Given the description of an element on the screen output the (x, y) to click on. 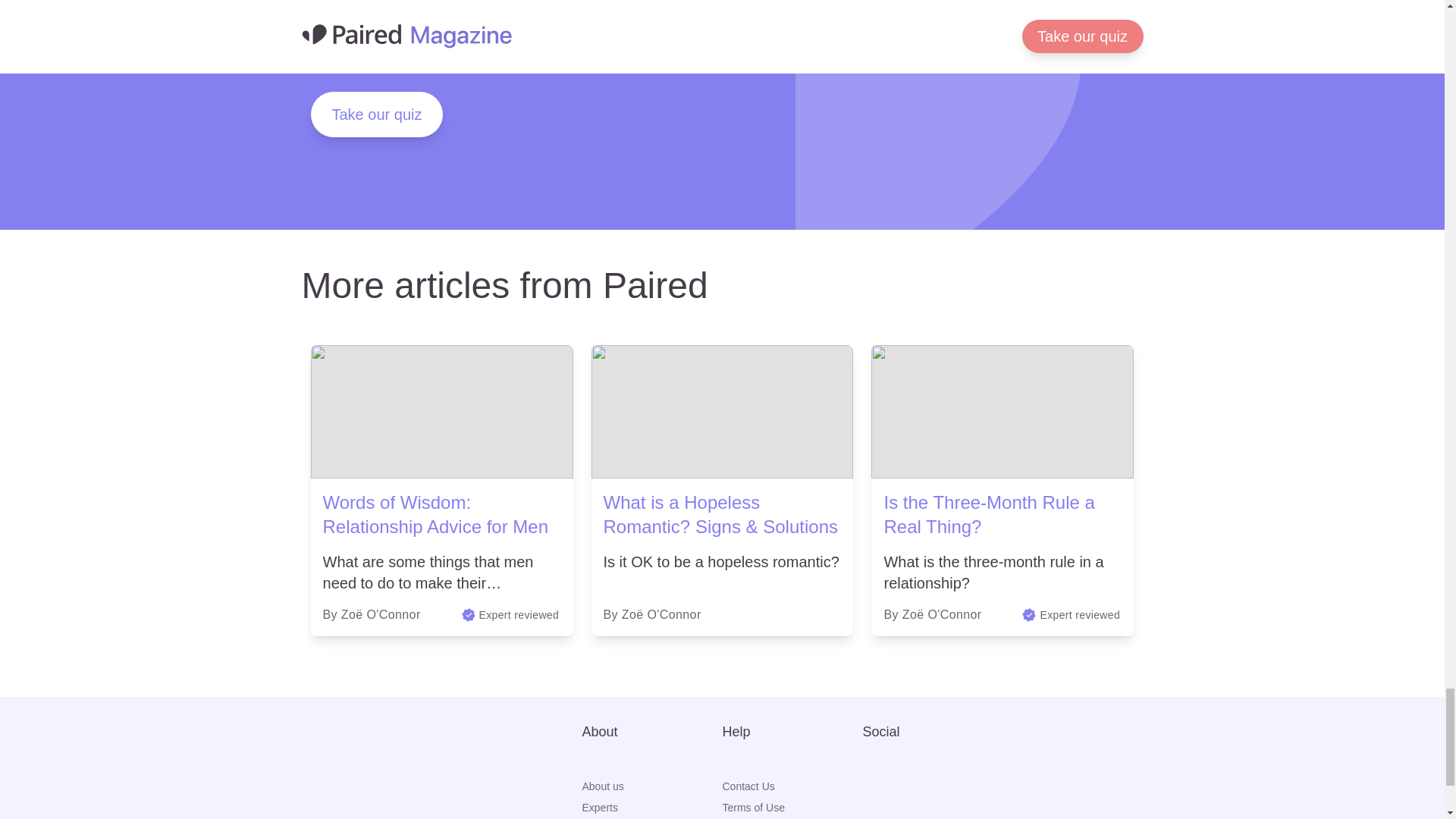
Take our quiz (377, 114)
Experts (652, 807)
Contact Us (791, 785)
About us (652, 785)
Terms of Use (791, 807)
